Given the description of an element on the screen output the (x, y) to click on. 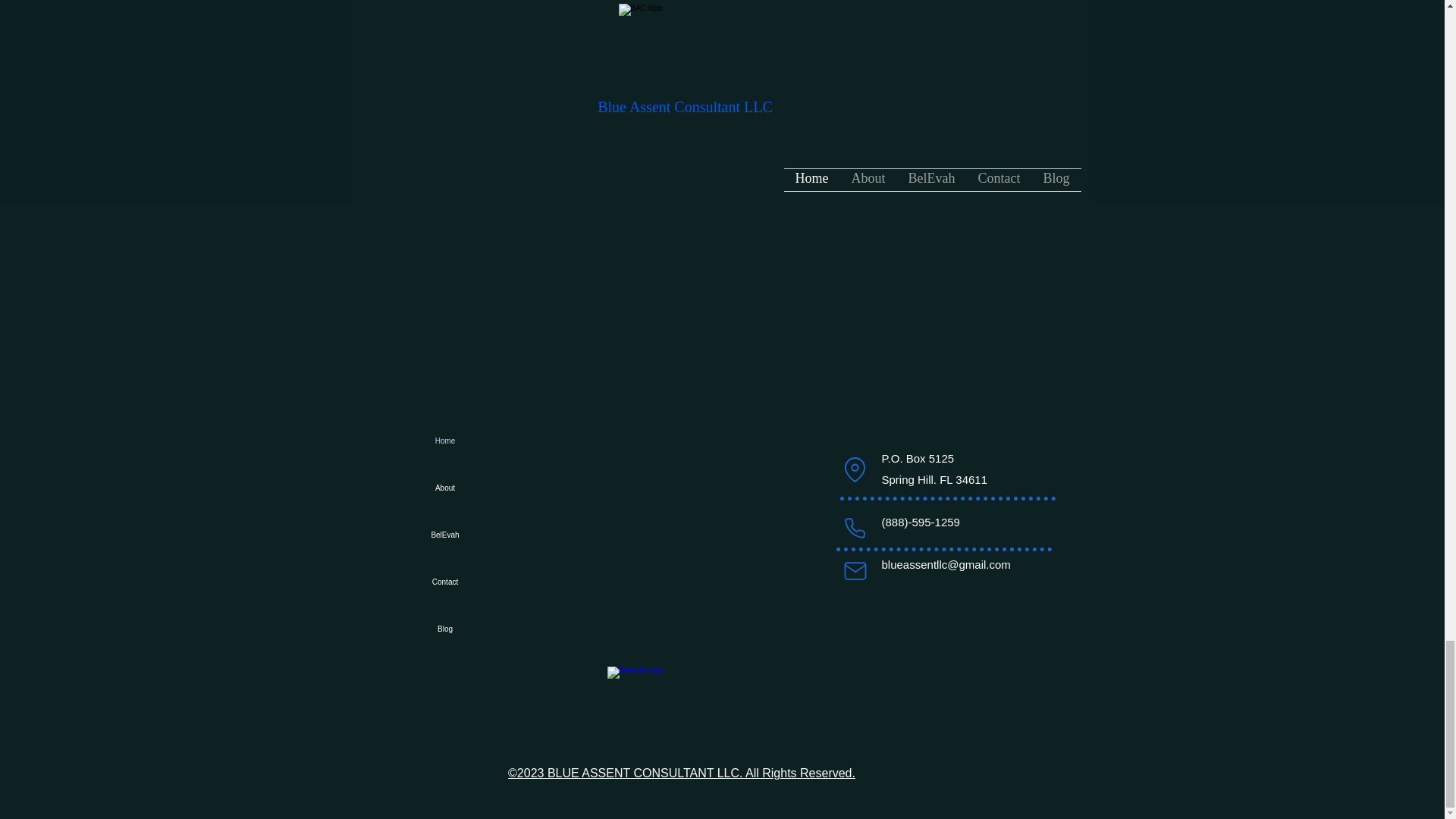
BelEvah (444, 534)
Blog (444, 629)
About (444, 488)
Home (444, 441)
Contact (444, 582)
